Given the description of an element on the screen output the (x, y) to click on. 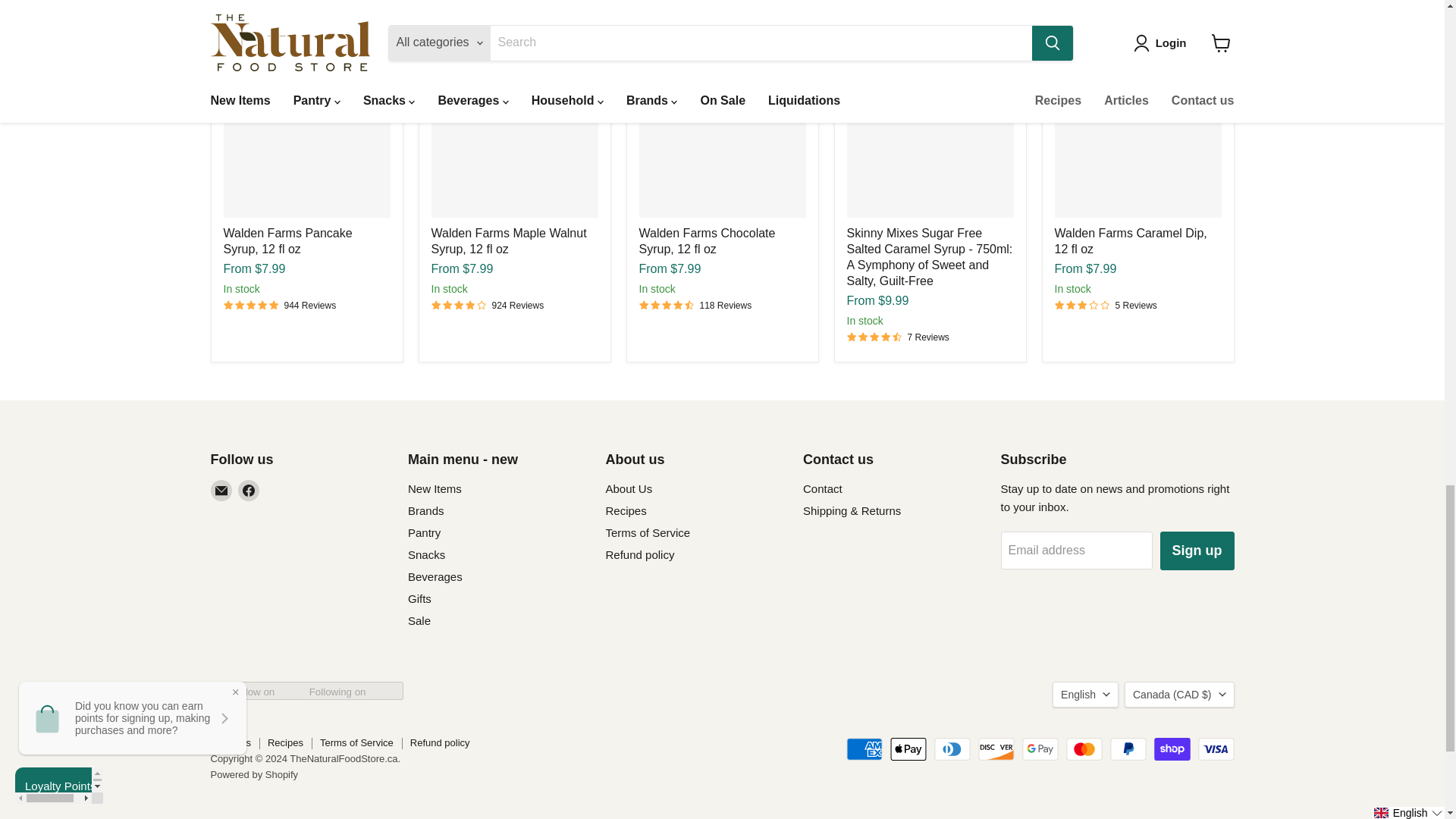
Email (221, 490)
Facebook (248, 490)
